Given the description of an element on the screen output the (x, y) to click on. 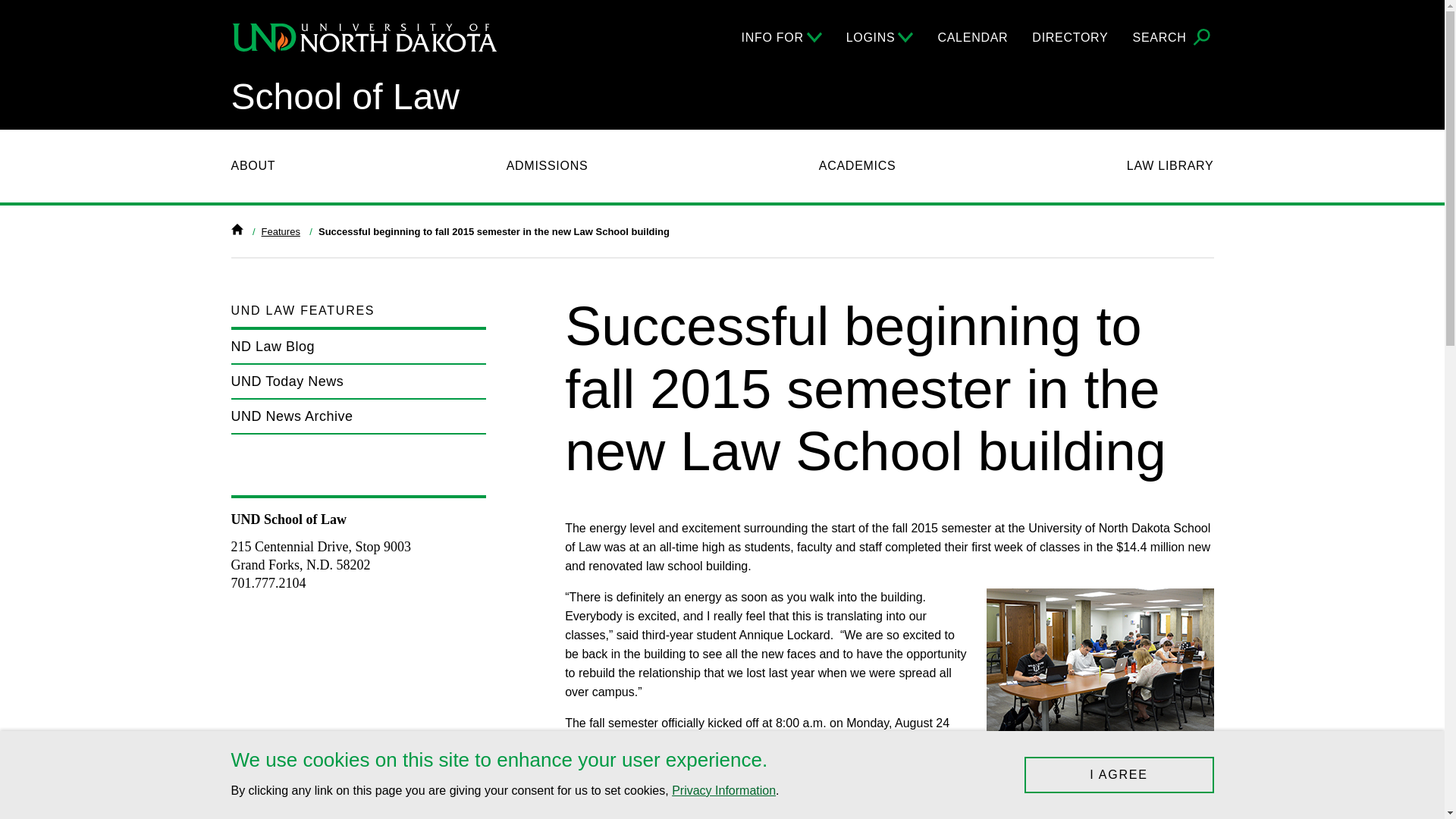
LOGINS (879, 37)
INFO FOR (781, 37)
School of Law (345, 96)
ABOUT (252, 165)
CALENDAR (972, 37)
DIRECTORY (1070, 37)
ACADEMICS (857, 165)
ADMISSIONS (547, 165)
LAW LIBRARY (1170, 165)
SEARCH (1173, 37)
